Given the description of an element on the screen output the (x, y) to click on. 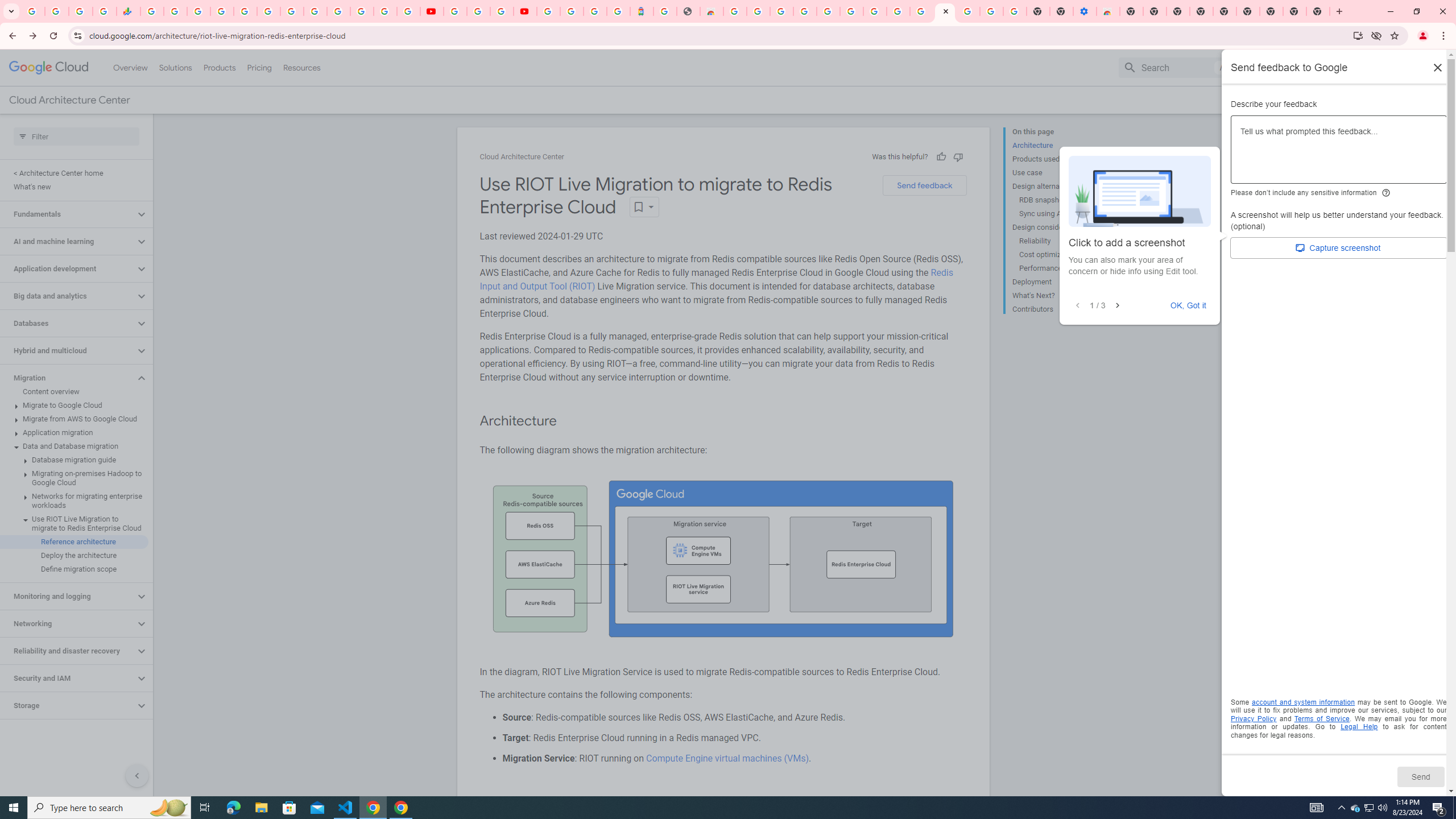
Google Account Help (850, 11)
< Architecture Center home (74, 173)
Next (1117, 305)
Start free (1400, 100)
Monitoring and logging (67, 596)
Opens in a new tab. Legal Help (1358, 727)
Contact Us (1324, 100)
Google Workspace Admin Community (32, 11)
Copy link to this section: Architecture (567, 421)
